Given the description of an element on the screen output the (x, y) to click on. 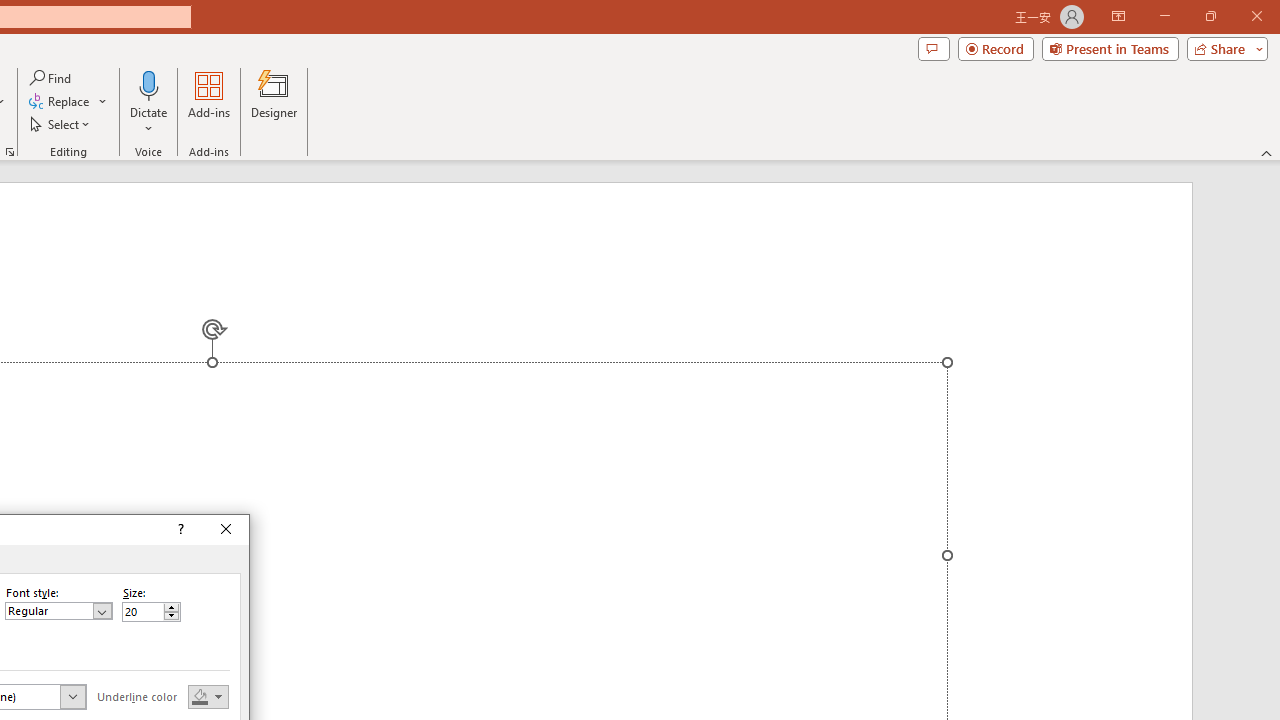
Underline color (208, 696)
Size (150, 611)
Size (142, 611)
